Given the description of an element on the screen output the (x, y) to click on. 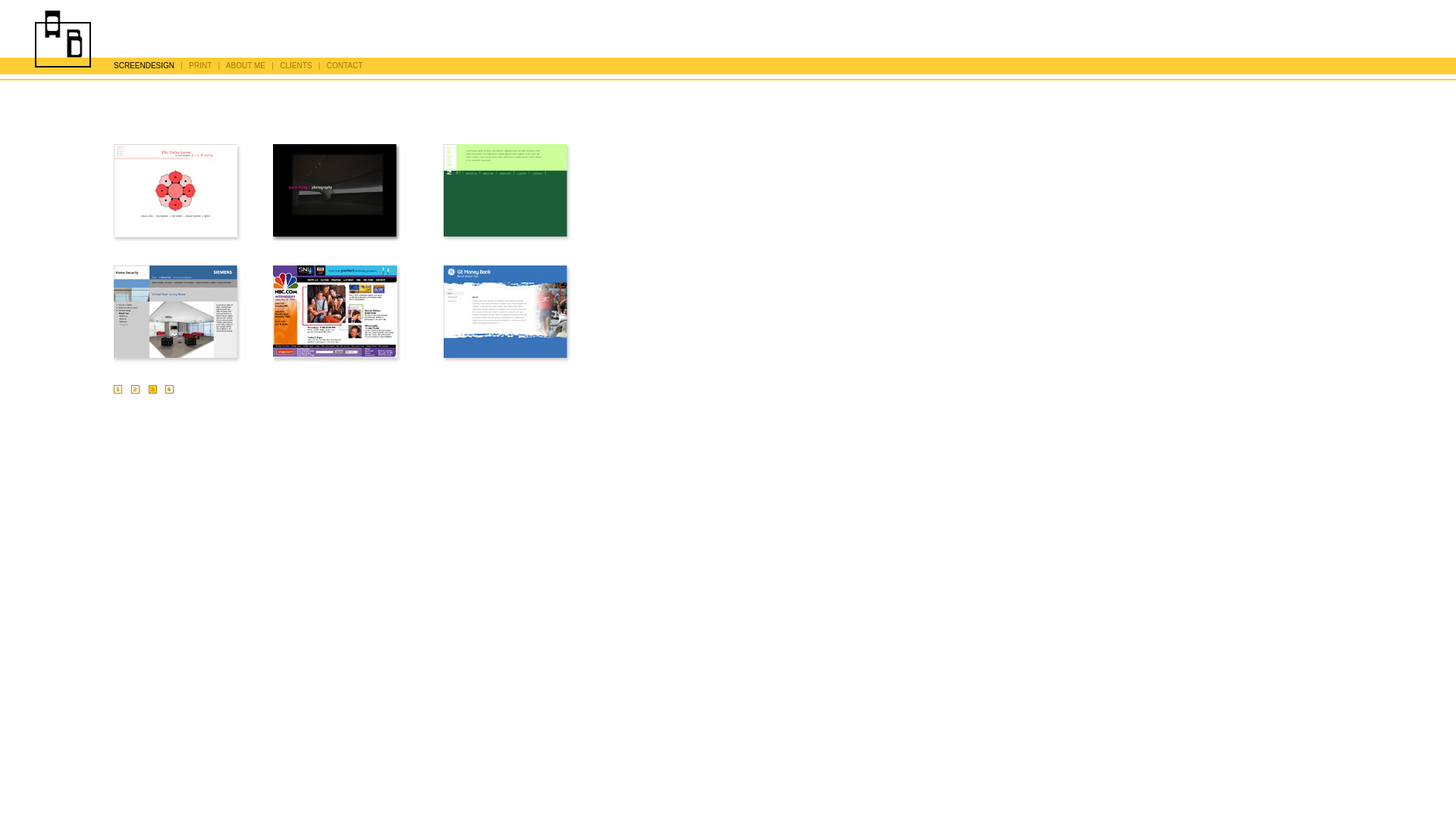
CONTACT Element type: text (344, 65)
ABOUT ME Element type: text (245, 65)
PRINT Element type: text (199, 65)
SCREENDESIGN Element type: text (143, 65)
CLIENTS Element type: text (295, 65)
